Given the description of an element on the screen output the (x, y) to click on. 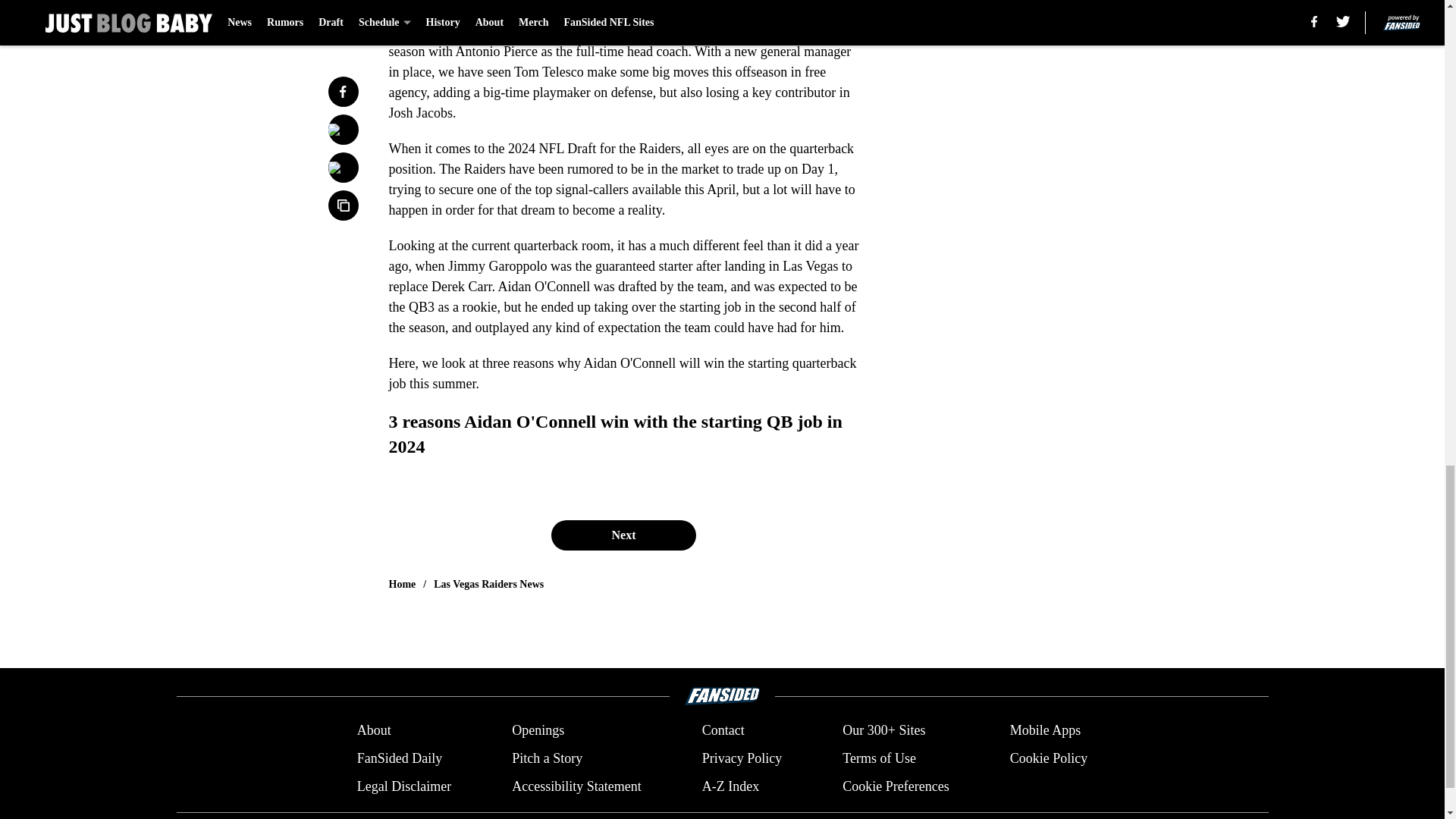
FanSided Daily (399, 758)
Las Vegas Raiders News (488, 584)
Contact (722, 730)
Privacy Policy (742, 758)
About (373, 730)
Terms of Use (879, 758)
Openings (538, 730)
Next (622, 535)
Accessibility Statement (576, 786)
A-Z Index (729, 786)
